Given the description of an element on the screen output the (x, y) to click on. 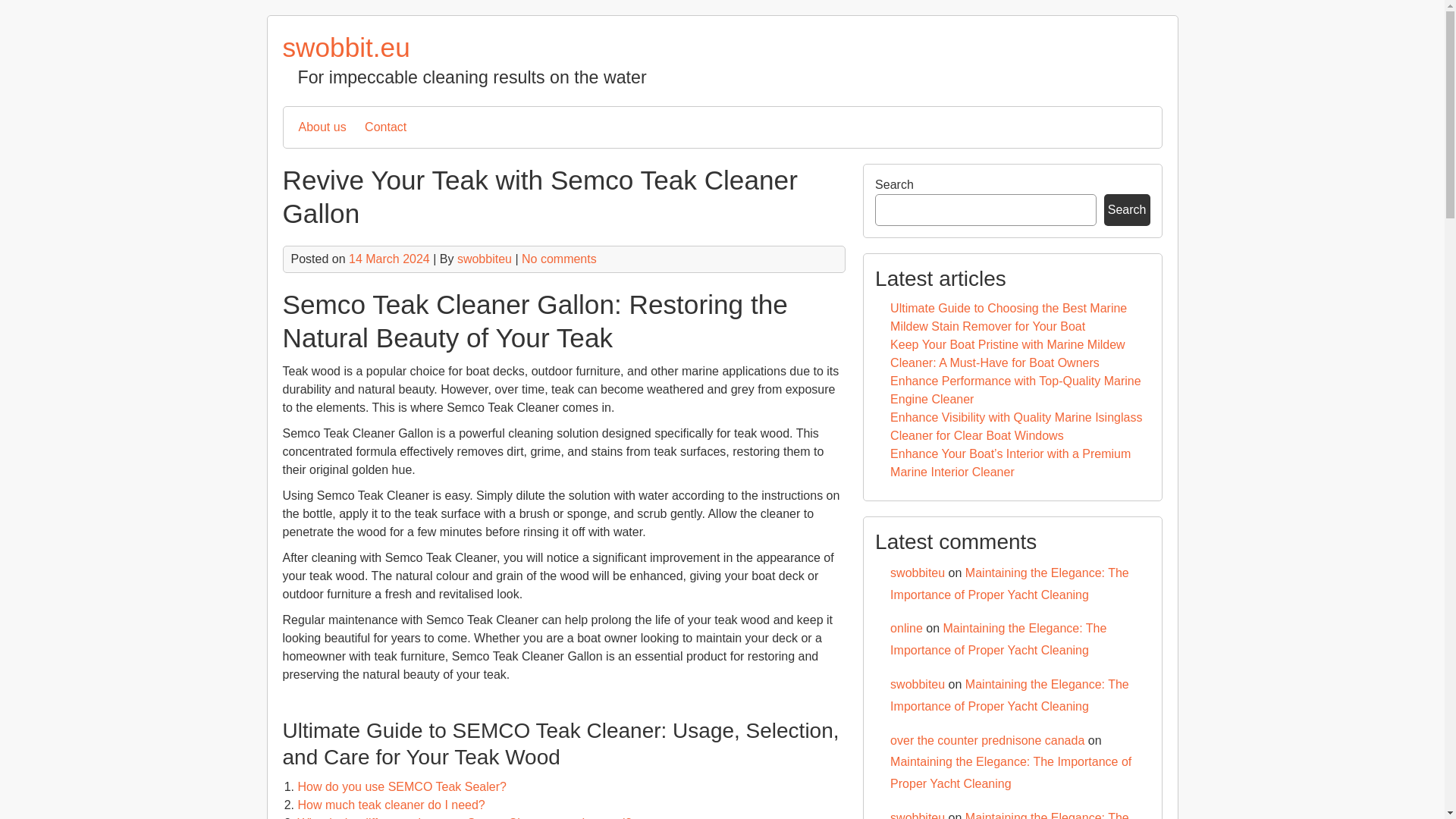
How much teak cleaner do I need? (390, 804)
swobbit.eu (345, 47)
swobbit.eu (345, 47)
14 March 2024 (389, 258)
swobbiteu (484, 258)
No comments (558, 258)
How do you use SEMCO Teak Sealer? (401, 786)
About us (322, 127)
Contact (385, 127)
